Given the description of an element on the screen output the (x, y) to click on. 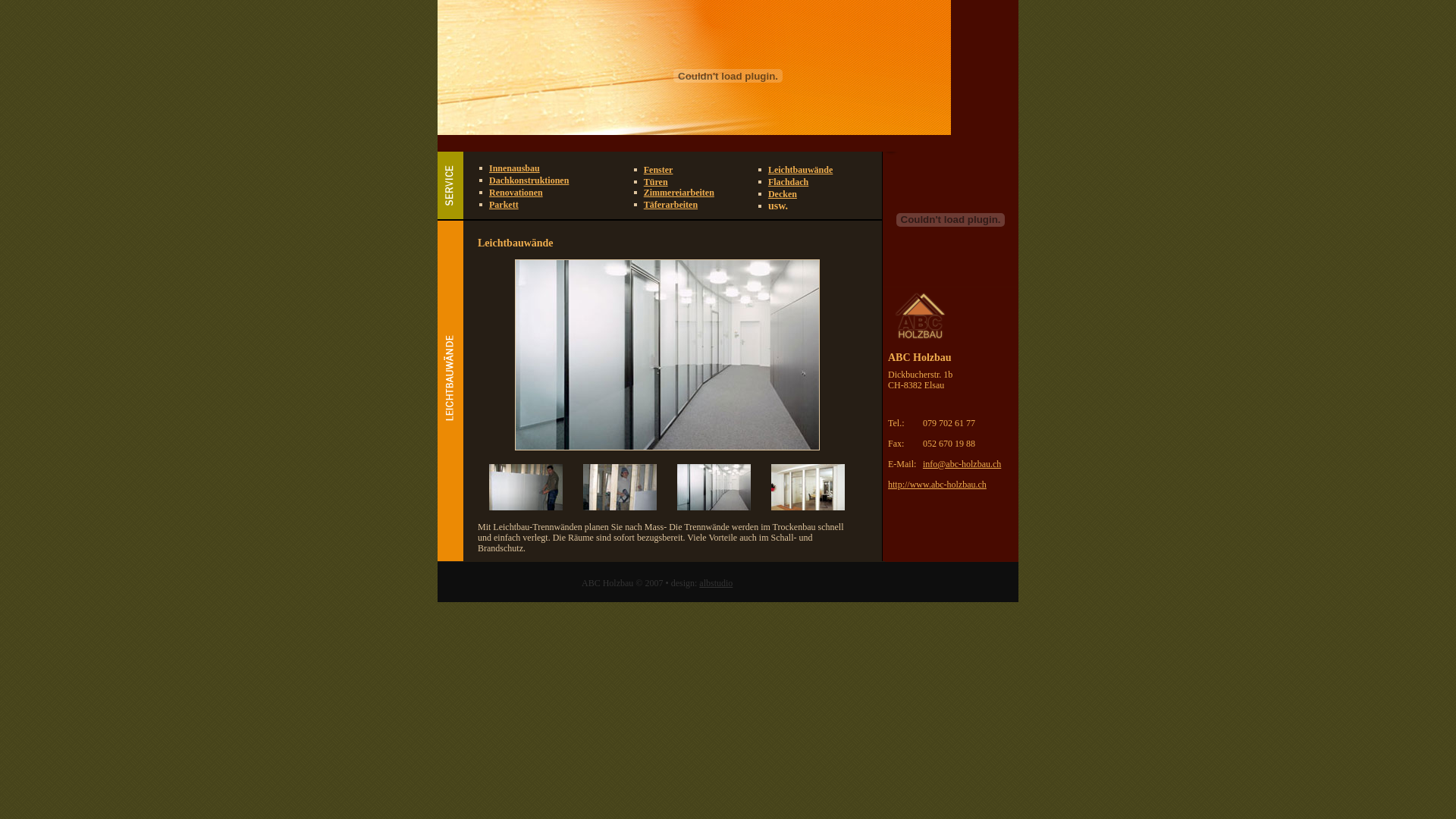
Parkett Element type: text (503, 204)
Zimmereiarbeiten Element type: text (678, 192)
http://www.abc-holzbau.ch Element type: text (937, 484)
Decken Element type: text (782, 193)
Renovationen Element type: text (515, 192)
Innenausbau Element type: text (514, 168)
Dachkonstruktionen Element type: text (528, 180)
albstudio Element type: text (715, 582)
Flachdach Element type: text (788, 181)
Fenster Element type: text (658, 169)
info@abc-holzbau.ch Element type: text (961, 463)
